Given the description of an element on the screen output the (x, y) to click on. 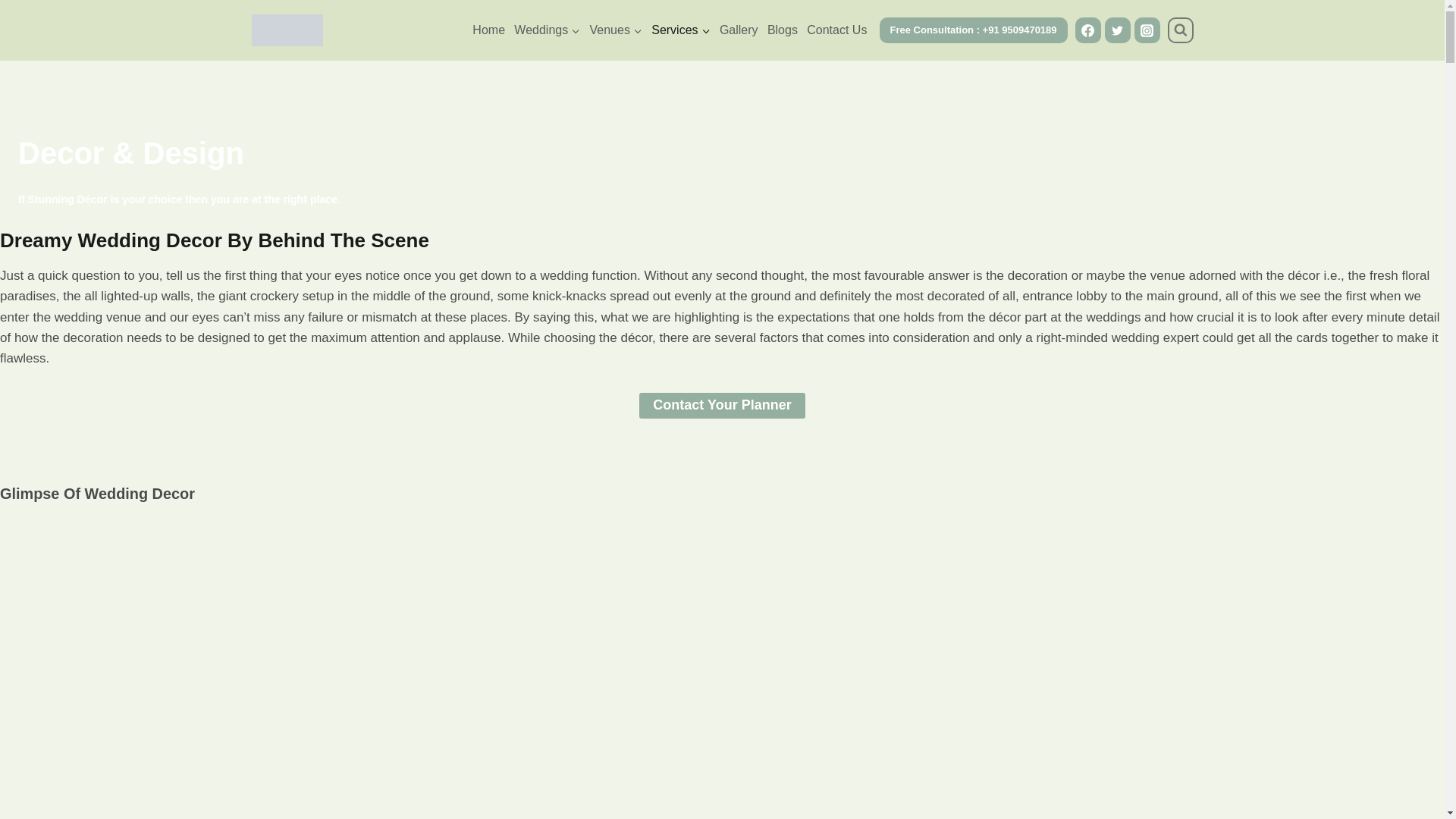
Venues (615, 30)
Contact Us (836, 30)
Blogs (782, 30)
Services (680, 30)
Weddings (547, 30)
Home (488, 30)
Gallery (738, 30)
